Given the description of an element on the screen output the (x, y) to click on. 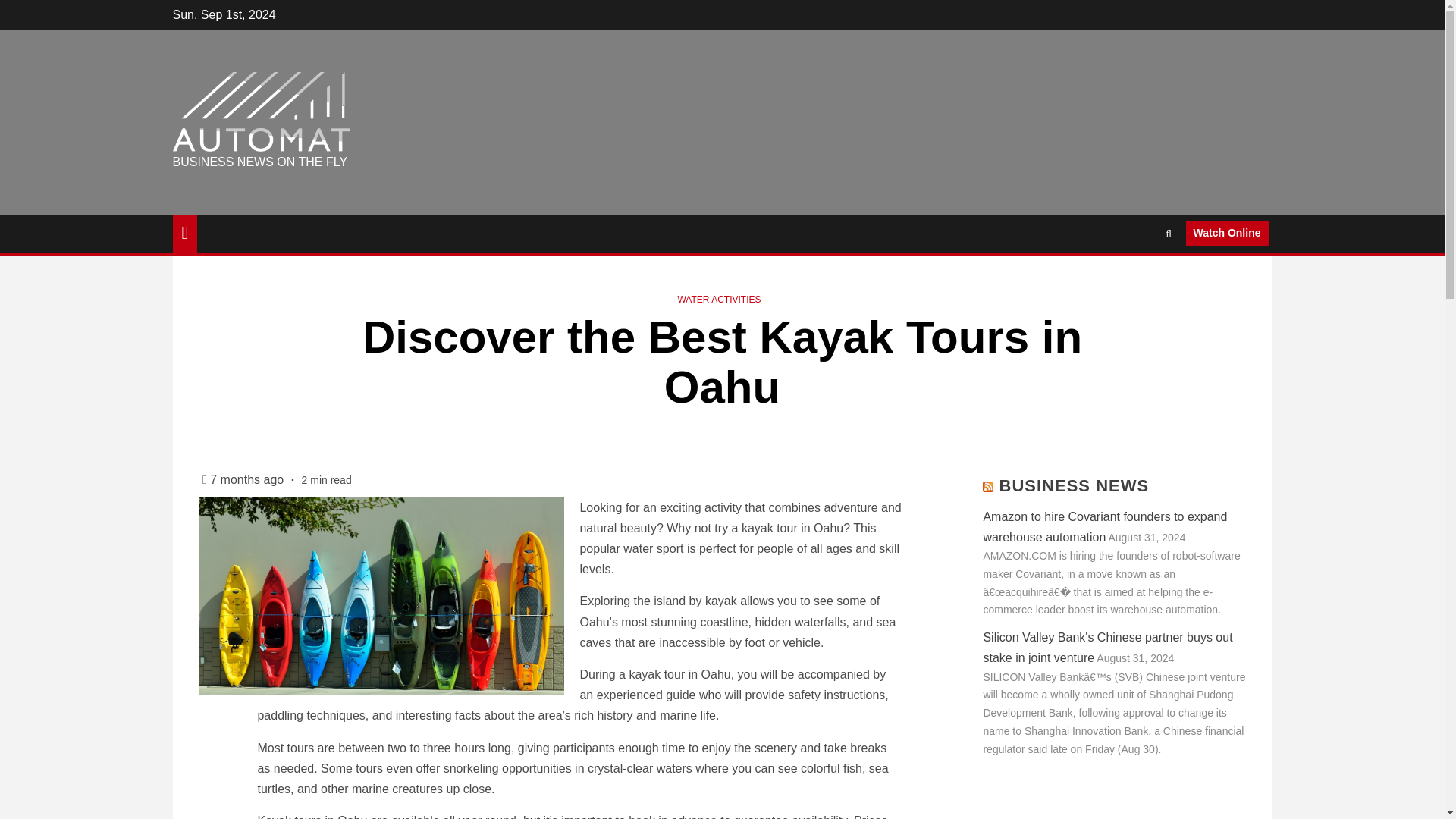
Watch Online (1227, 233)
BUSINESS NEWS (1074, 485)
Search (1138, 279)
WATER ACTIVITIES (718, 299)
